Given the description of an element on the screen output the (x, y) to click on. 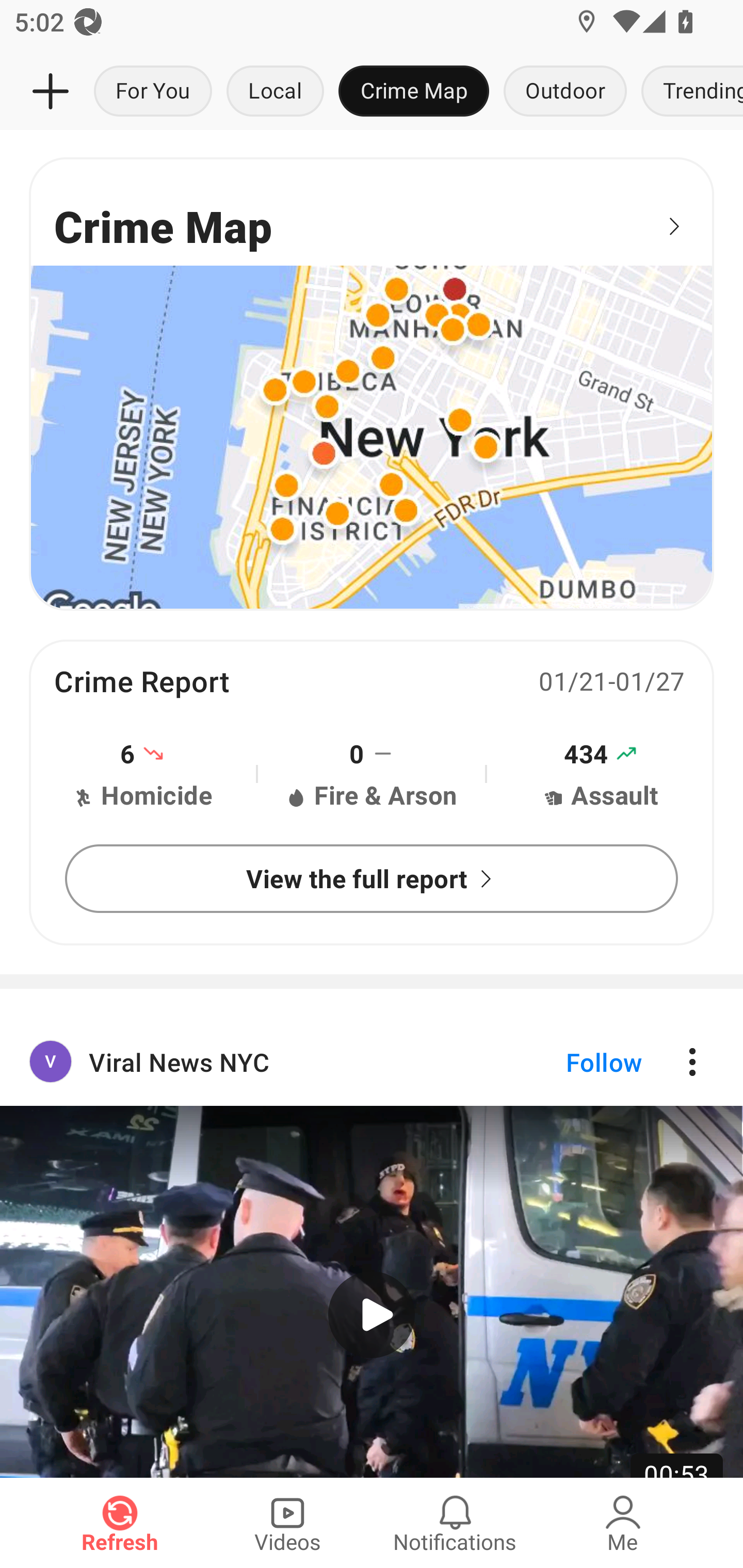
For You (152, 91)
Local (275, 91)
Crime Map (413, 91)
Outdoor (564, 91)
Trending (688, 91)
Crime Map (371, 382)
View the full report (371, 877)
Viral News NYC  Follow (371, 1061)
Follow (569, 1061)
Videos (287, 1522)
Notifications (455, 1522)
Me (622, 1522)
